Given the description of an element on the screen output the (x, y) to click on. 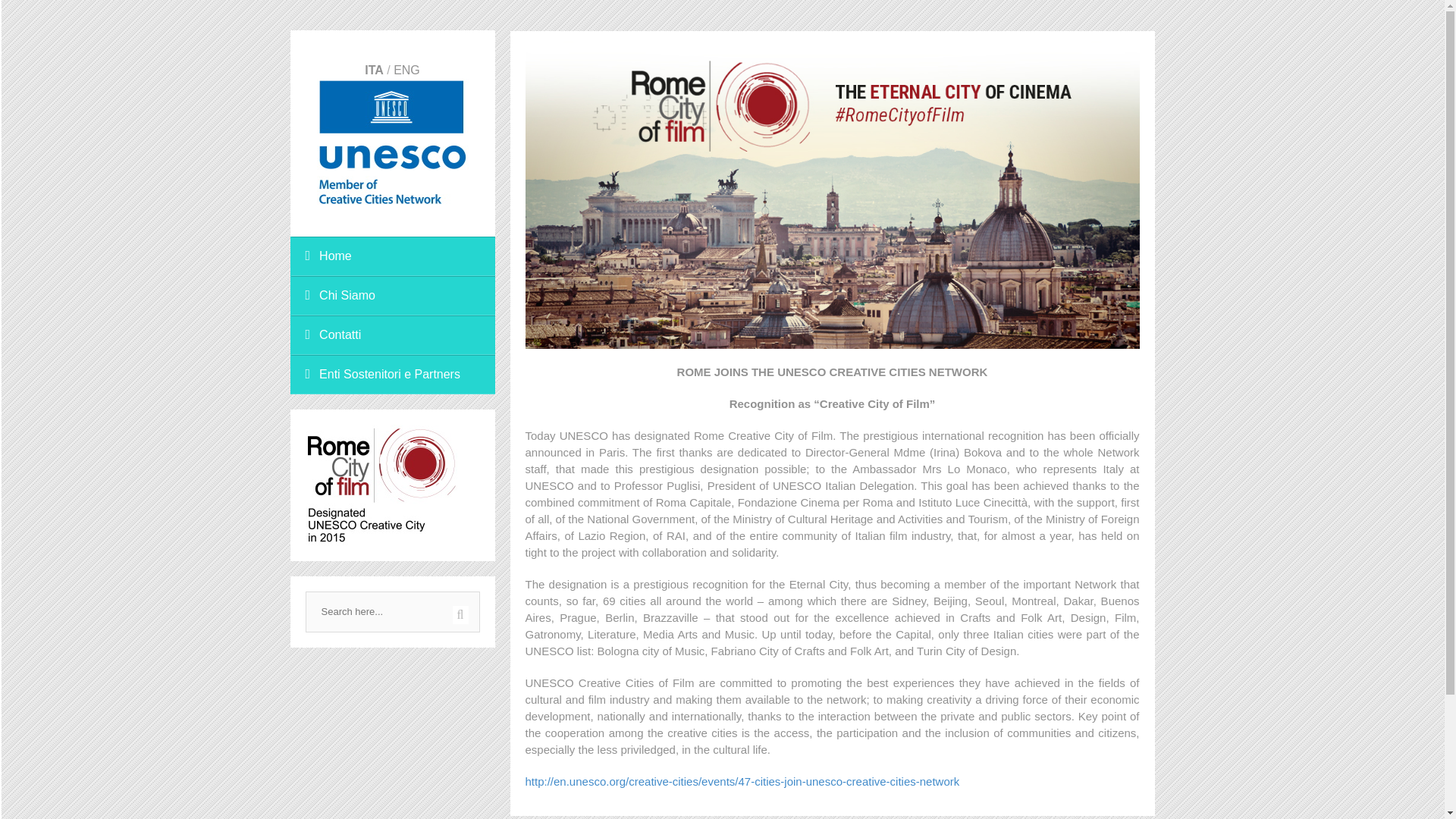
Contatti (392, 334)
Enti Sostenitori e Partners (392, 373)
Contatti (392, 334)
Enti Sostenitori e Partners (392, 373)
Home (392, 256)
Chi Siamo (392, 295)
ITA (374, 69)
ENG (406, 69)
Chi Siamo (392, 295)
Home (392, 256)
